Given the description of an element on the screen output the (x, y) to click on. 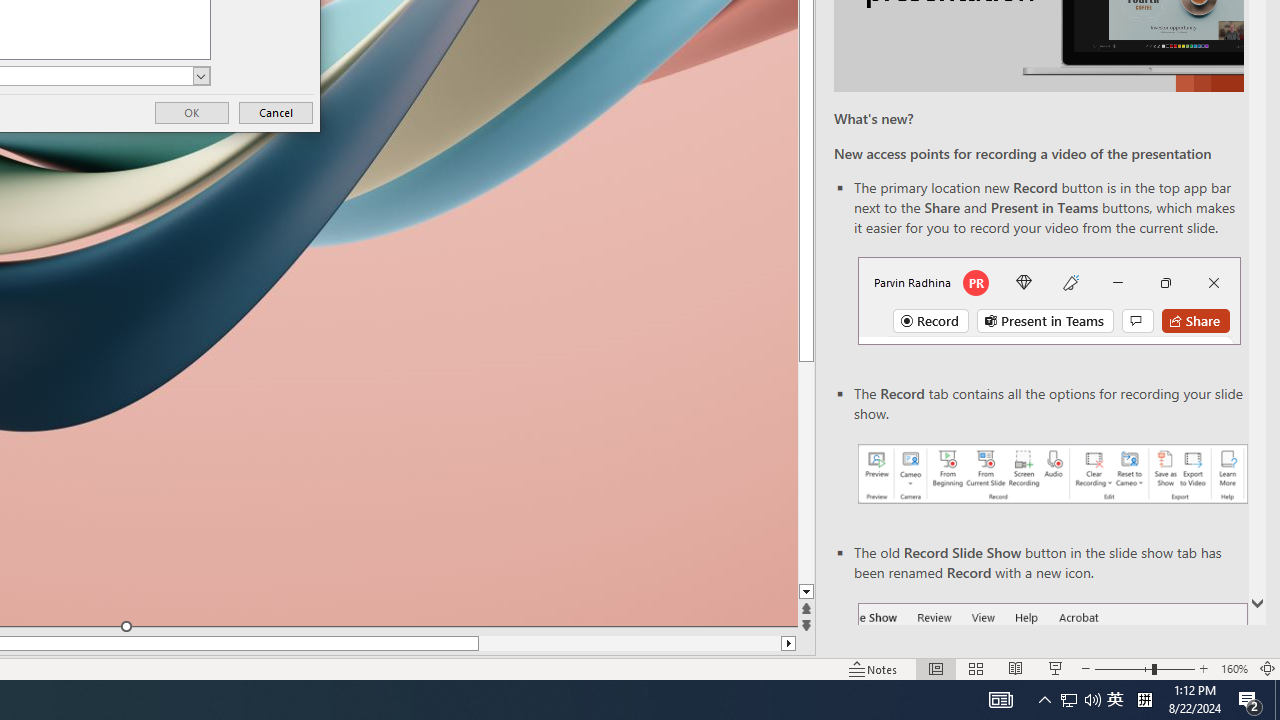
Zoom 160% (1234, 668)
Record button in top bar (1049, 300)
Record your presentations screenshot one (1052, 473)
